Given the description of an element on the screen output the (x, y) to click on. 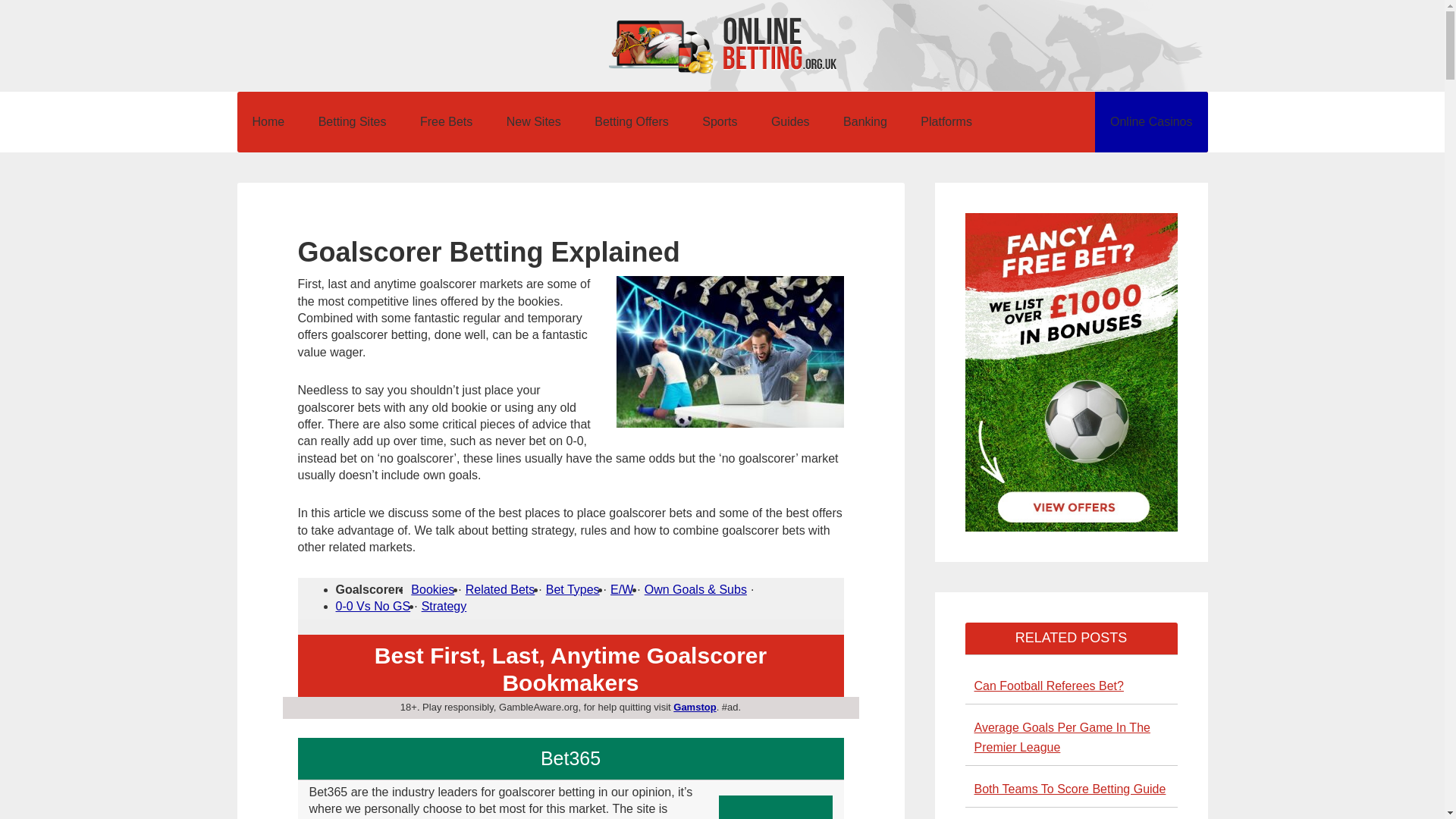
Guides (790, 121)
Bet Types (572, 589)
Sports (719, 121)
Home (267, 121)
0-0 Vs No GS (372, 605)
Platforms (946, 121)
New Sites (534, 121)
Online Casinos (1151, 121)
Gamstop (694, 706)
Online Betting UK (721, 45)
Betting Sites (351, 121)
Free Bets (445, 121)
Banking (865, 121)
Betting Offers (631, 121)
